Given the description of an element on the screen output the (x, y) to click on. 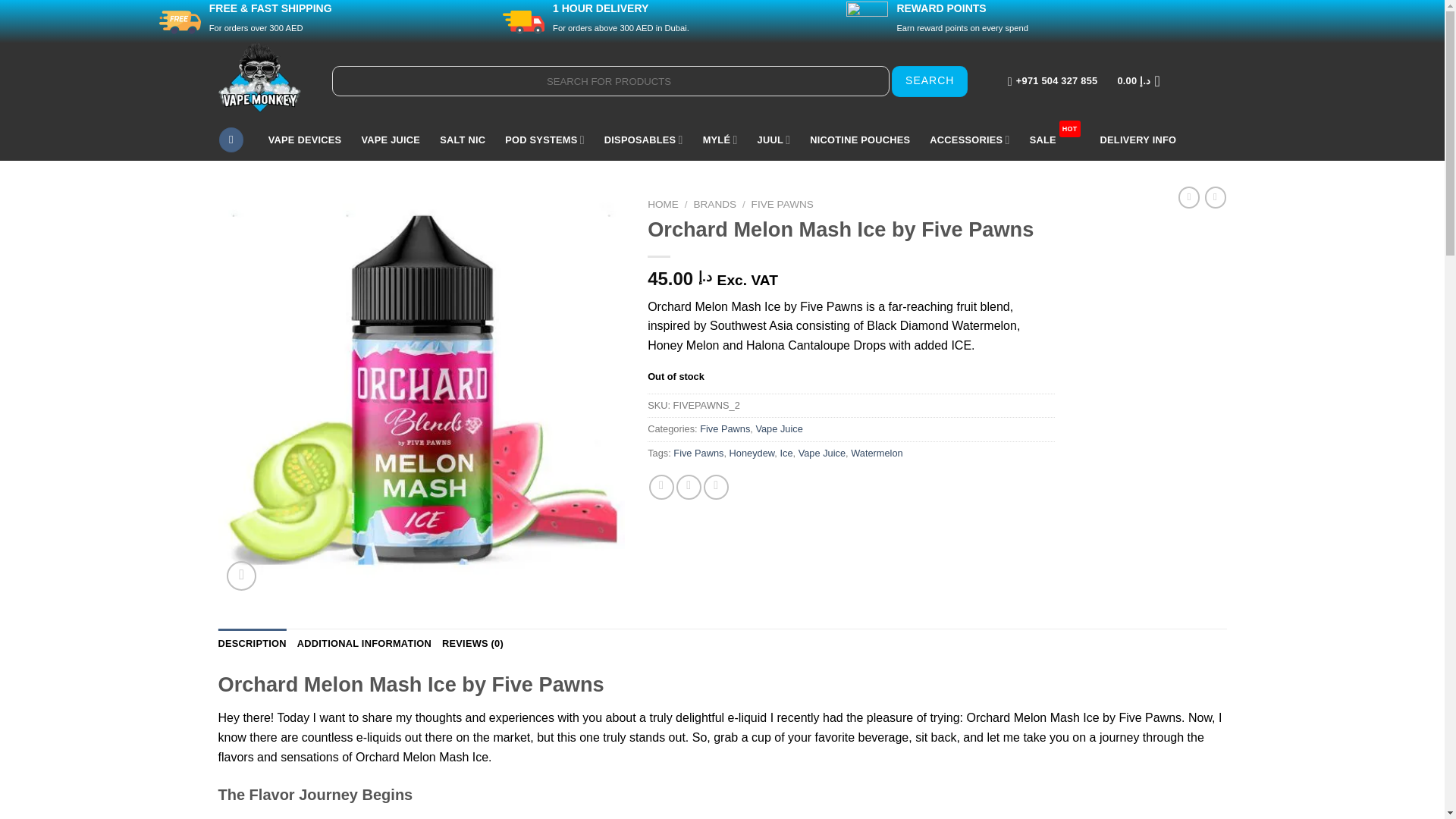
Search (929, 81)
Share on Facebook (661, 487)
SALT NIC (461, 139)
Share on Twitter (689, 487)
DISPOSABLES (643, 139)
POD SYSTEMS (545, 139)
VAPE DEVICES (304, 139)
Search (929, 81)
Zoom (241, 575)
Cart (1142, 80)
Vape Monkey Dubai - The online vape store in Dubai (263, 77)
VAPE JUICE (390, 139)
